Given the description of an element on the screen output the (x, y) to click on. 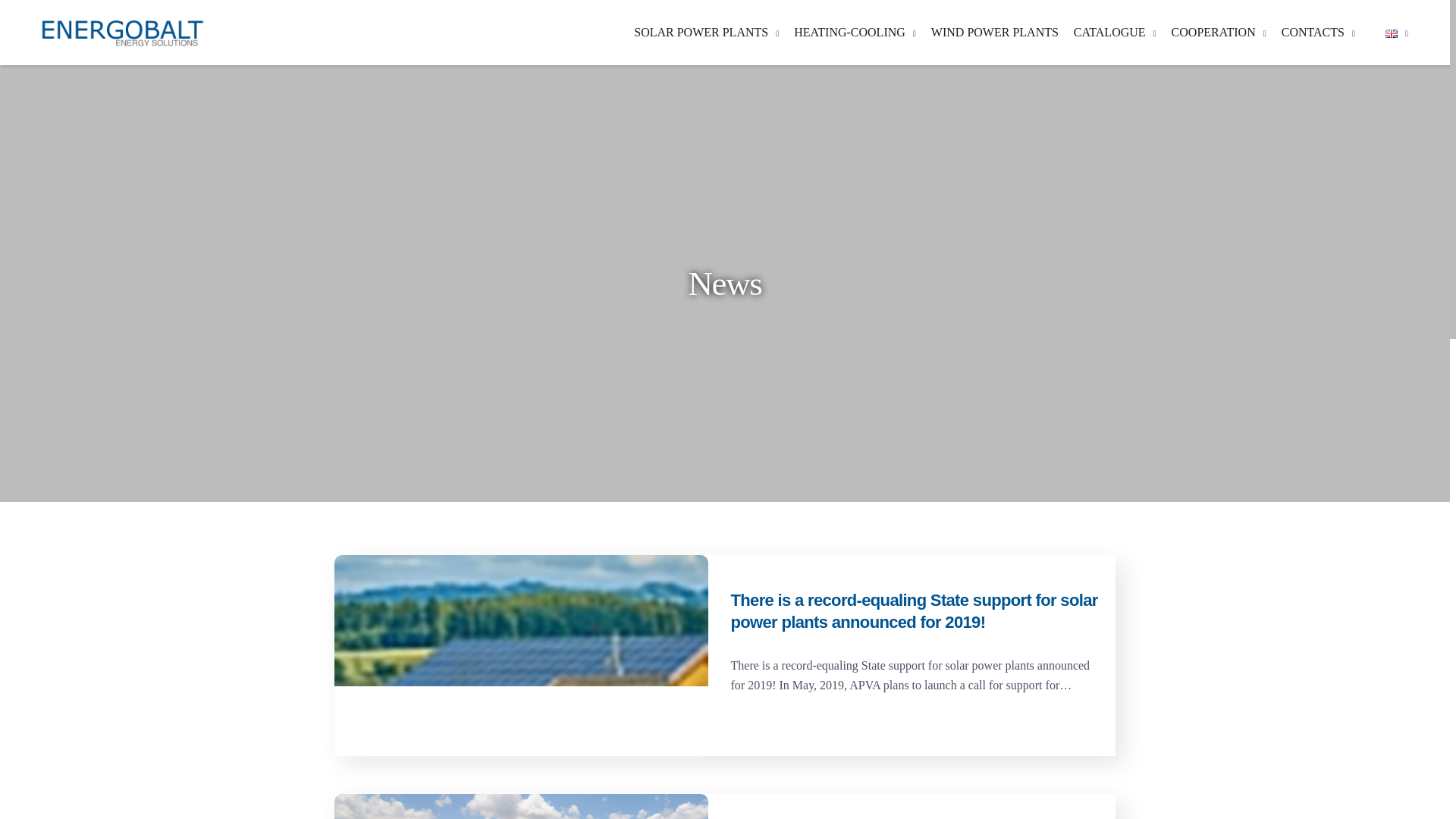
SOLAR POWER PLANTS (706, 31)
